Given the description of an element on the screen output the (x, y) to click on. 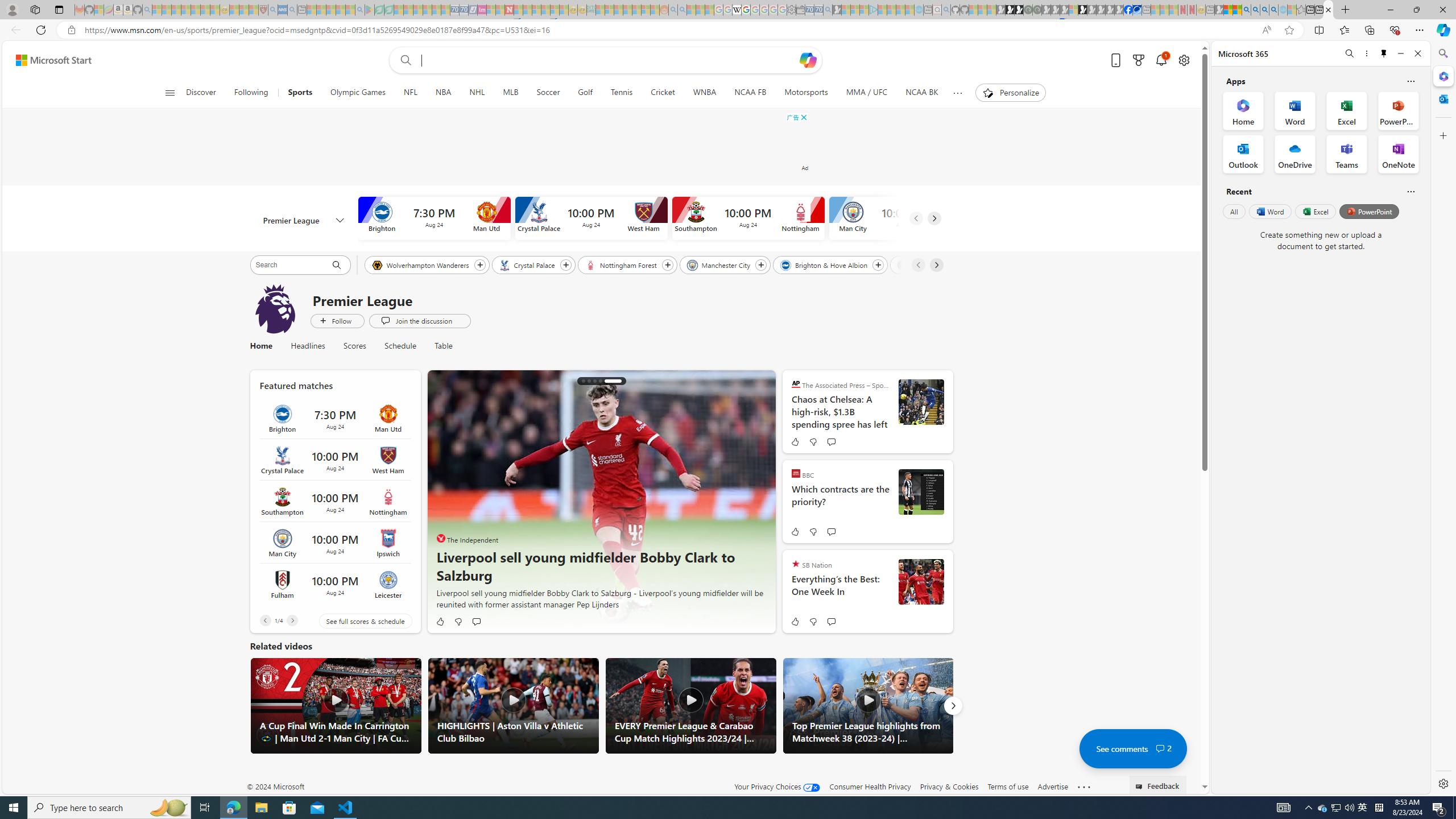
HIGHLIGHTS | Aston Villa v Athletic Club Bilbao (513, 705)
Crystal Palace (527, 264)
utah sues federal government - Search - Sleeping (291, 9)
NHL (476, 92)
Man City vs Ipswich Time 10:00 PM Date Aug 24 (334, 543)
